Given the description of an element on the screen output the (x, y) to click on. 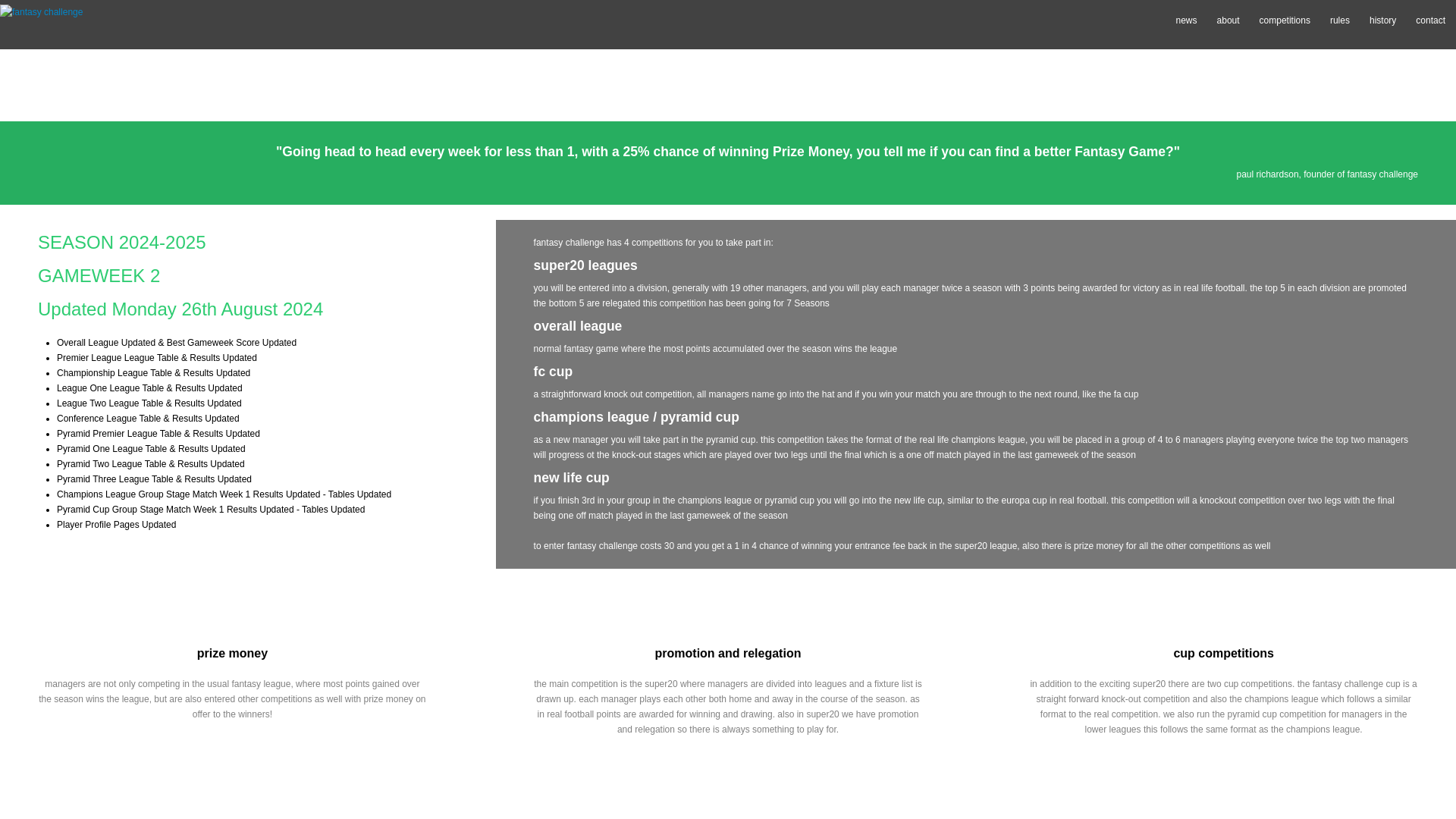
news (1187, 20)
about (1228, 20)
contact (1430, 20)
rules (1339, 20)
competitions (1284, 20)
history (1382, 20)
